Given the description of an element on the screen output the (x, y) to click on. 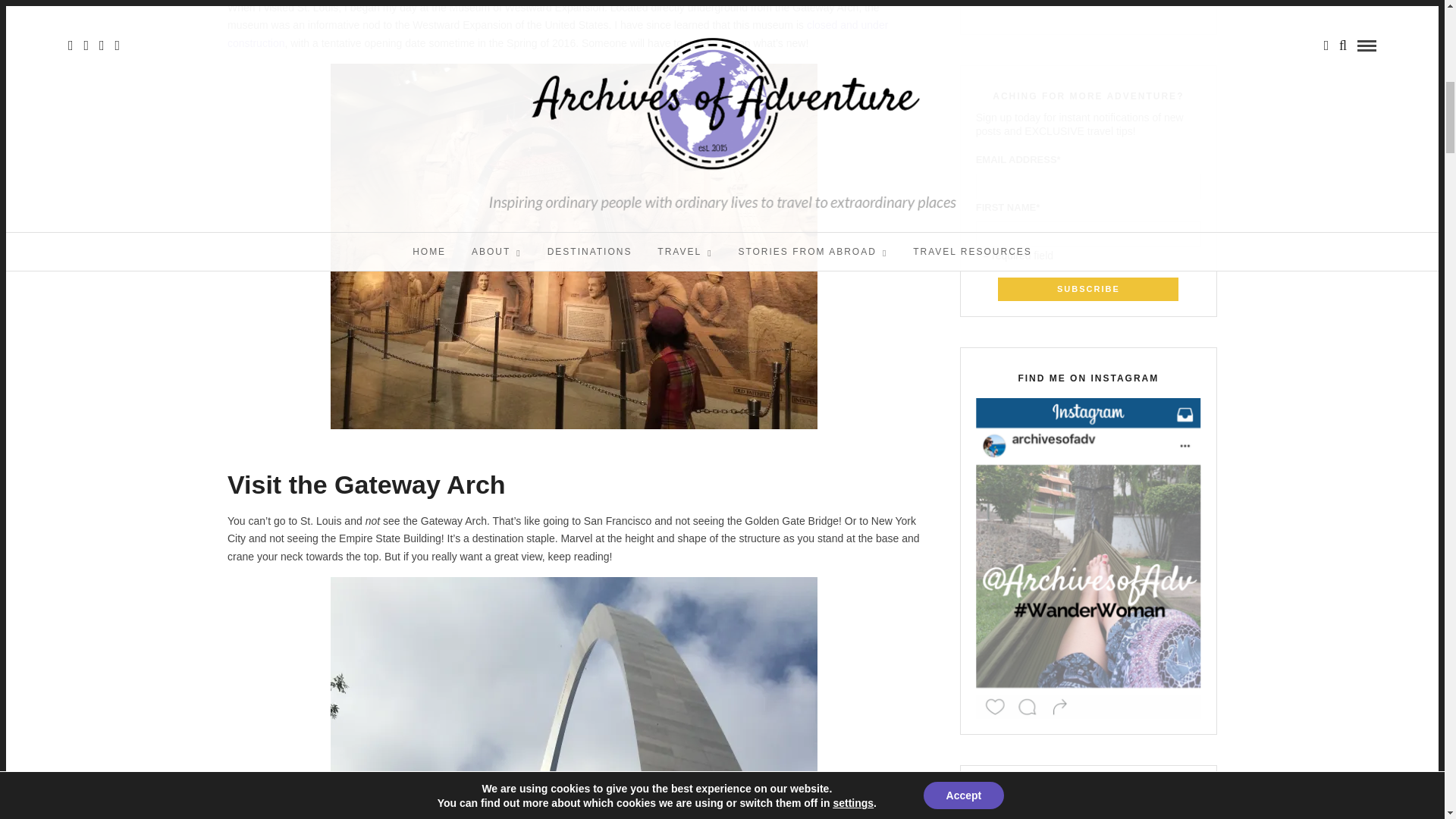
Subscribe (1087, 289)
